Given the description of an element on the screen output the (x, y) to click on. 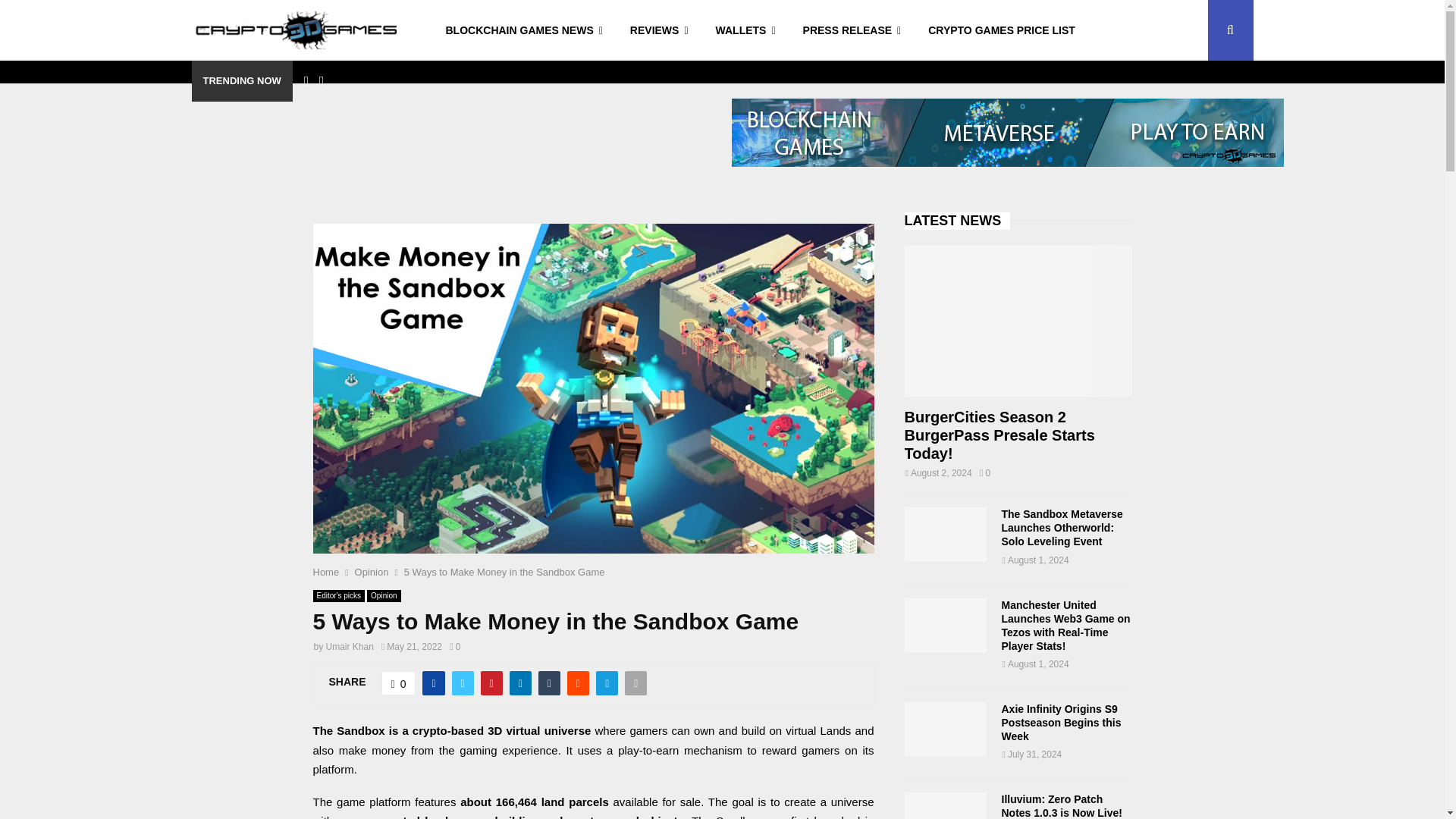
Like (398, 682)
BLOCKCHAIN GAMES NEWS (523, 30)
WALLETS (745, 30)
REVIEWS (658, 30)
